Given the description of an element on the screen output the (x, y) to click on. 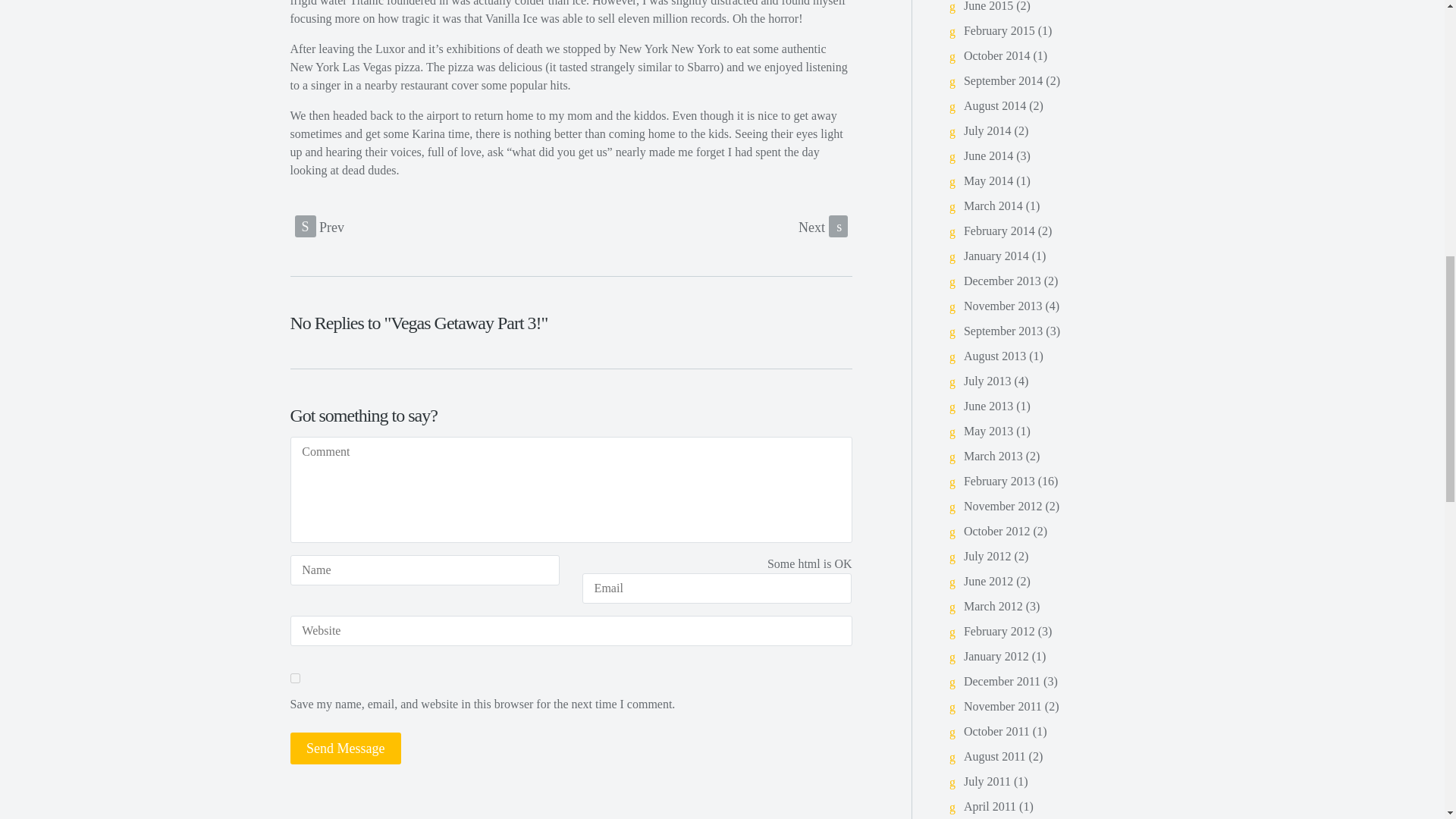
June 2014 (988, 155)
June 2013 (988, 405)
September 2013 (1002, 330)
July 2014 (987, 130)
September 2014 (1002, 80)
S Prev (318, 226)
August 2013 (994, 355)
February 2015 (999, 30)
January 2014 (996, 255)
November 2013 (1002, 305)
